Given the description of an element on the screen output the (x, y) to click on. 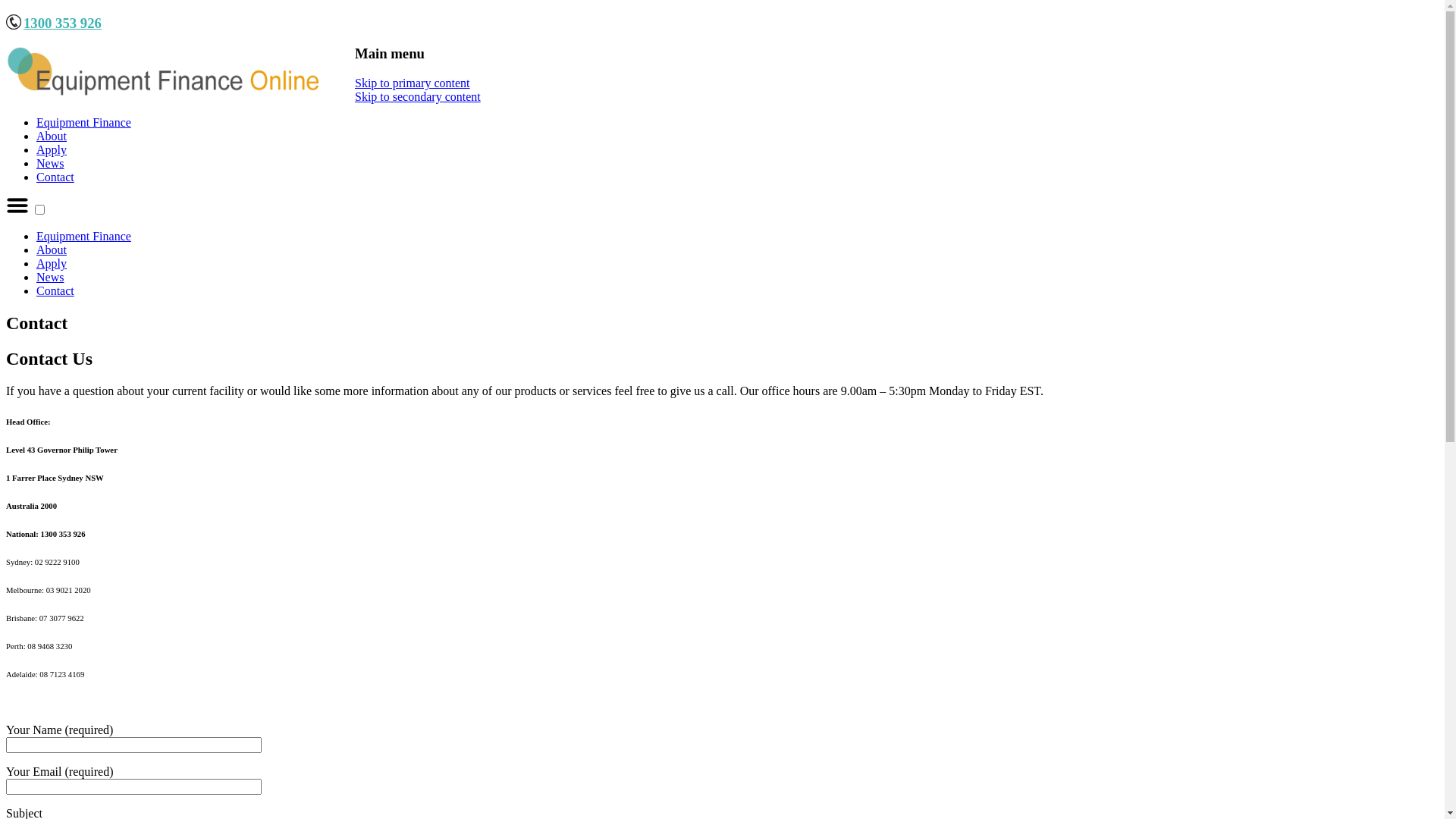
News Element type: text (49, 276)
Skip to primary content Element type: text (412, 82)
Skip to secondary content Element type: text (417, 96)
Equipment Finance Element type: text (83, 122)
About Element type: text (51, 135)
Contact Element type: text (55, 176)
Apply Element type: text (51, 263)
About Element type: text (51, 249)
Contact Element type: text (55, 290)
LOGO Element type: hover (165, 71)
Equipment Finance Element type: text (83, 235)
Apply Element type: text (51, 149)
News Element type: text (49, 162)
